Given the description of an element on the screen output the (x, y) to click on. 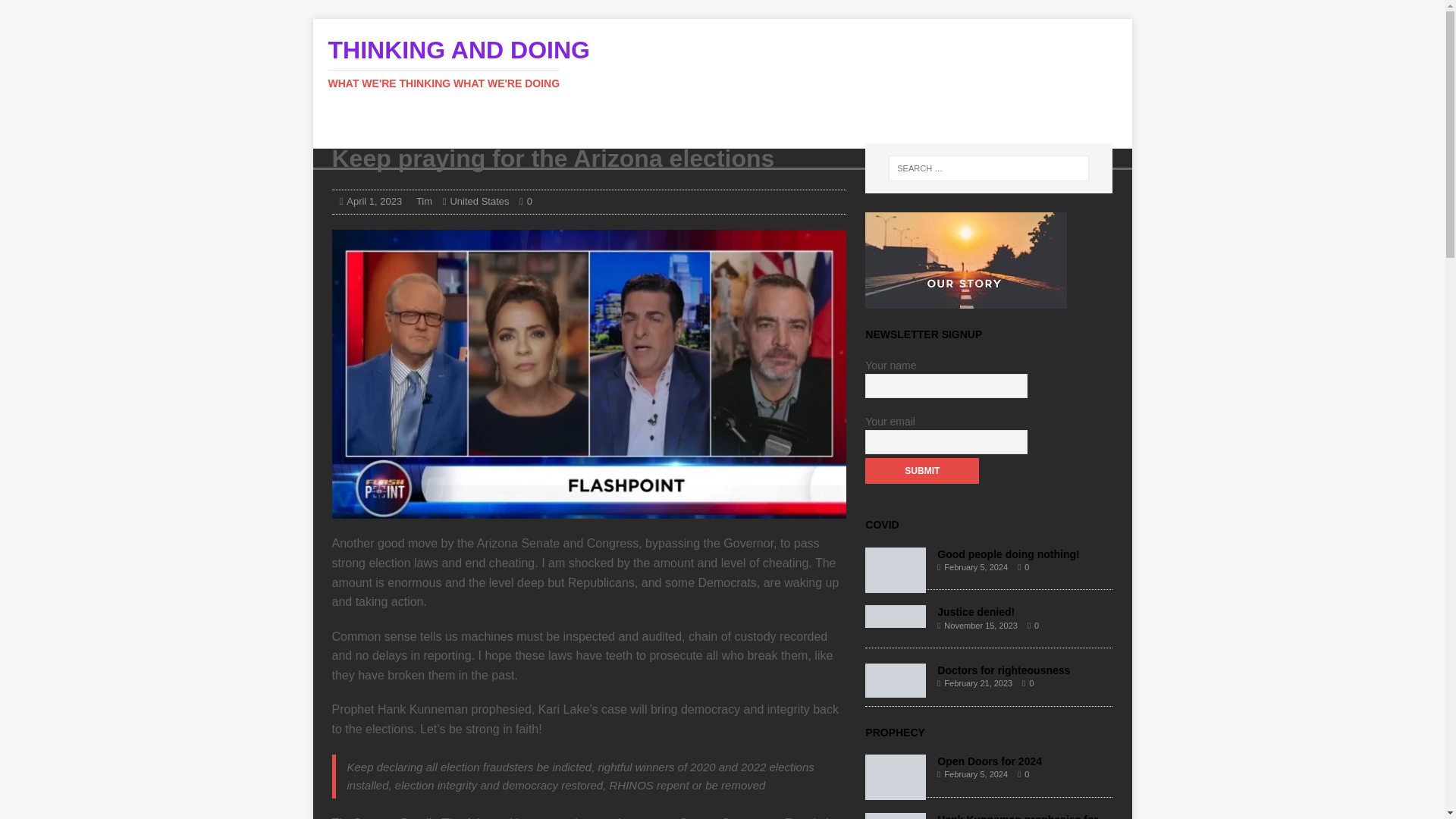
0 (529, 201)
Open Doors for 2024 (895, 791)
0 (1031, 682)
Justice denied! (895, 619)
WE BELIEVE (792, 126)
Good people doing nothing! (1007, 553)
RESOURCES (619, 126)
Submit (921, 470)
Tim (424, 201)
COVID (881, 524)
Justice denied! (975, 612)
Doctors for righteousness (1003, 670)
DONATE (706, 126)
Justice denied! (975, 612)
United States (478, 201)
